Given the description of an element on the screen output the (x, y) to click on. 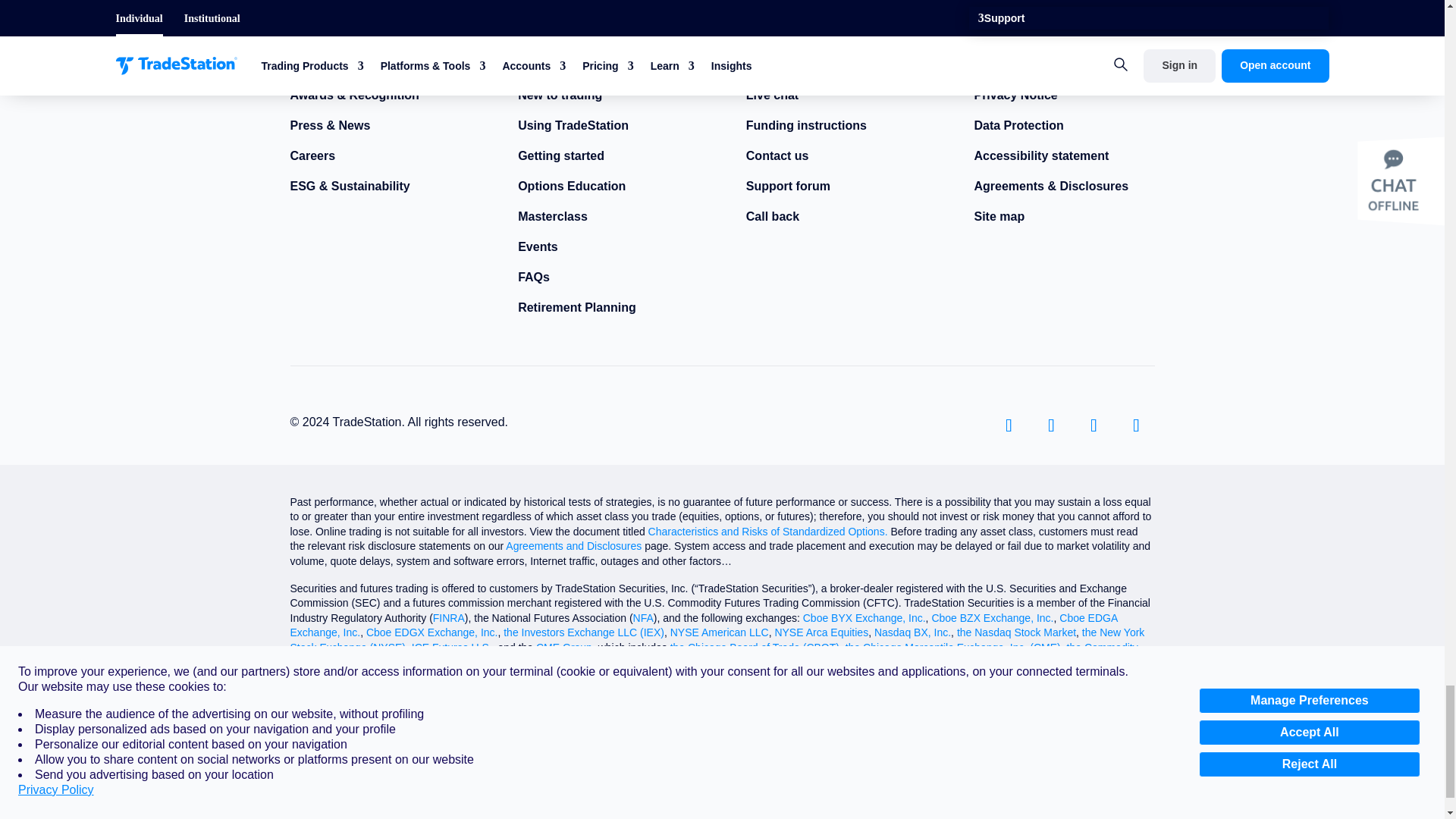
Follow on X (1050, 425)
Follow on Instagram (1093, 425)
Follow on Youtube (1136, 425)
Follow on Facebook (1008, 425)
